Given the description of an element on the screen output the (x, y) to click on. 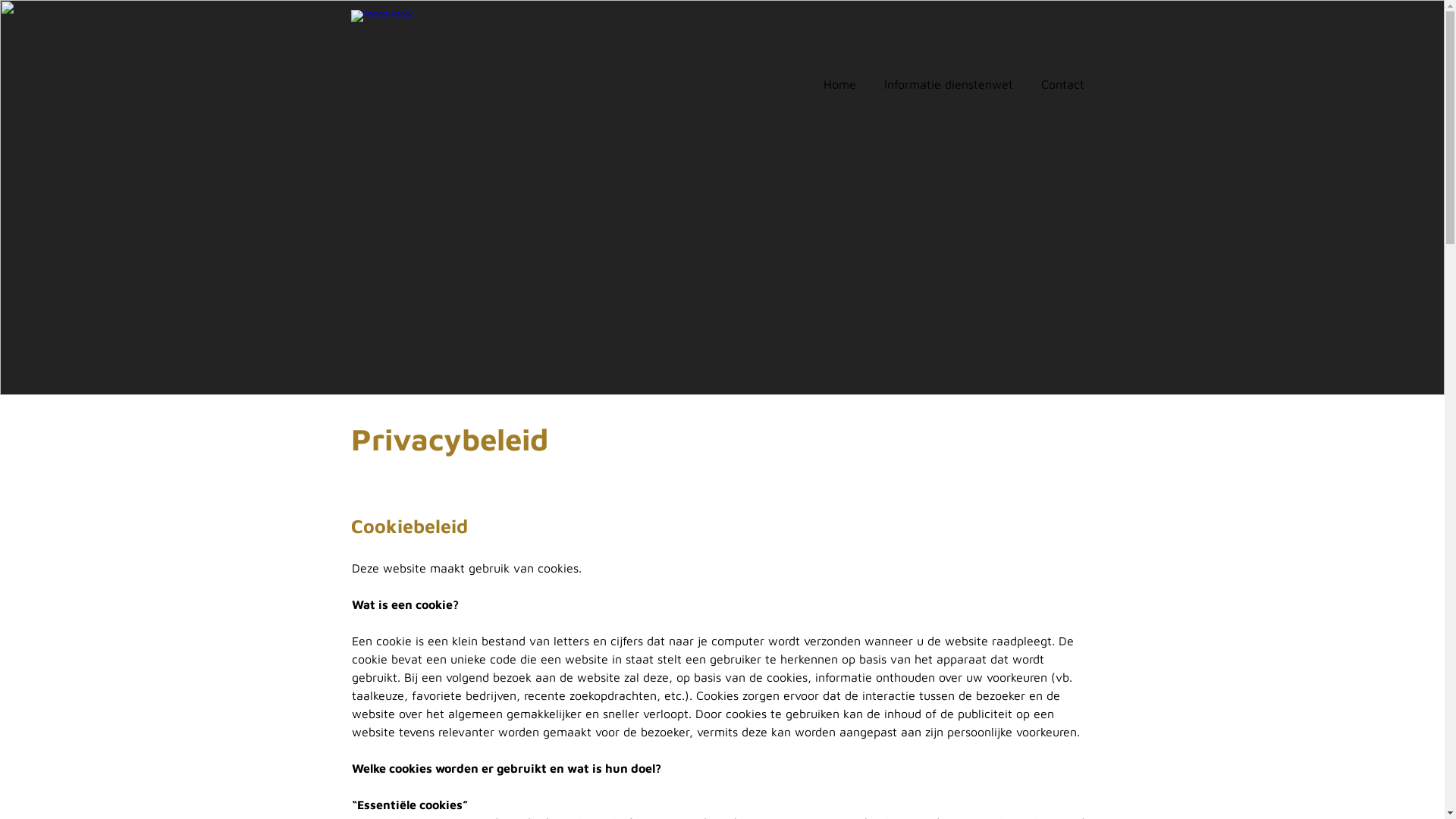
Home Element type: text (840, 85)
Informatie dienstenwet Element type: text (948, 85)
Contact Element type: text (1062, 85)
